Given the description of an element on the screen output the (x, y) to click on. 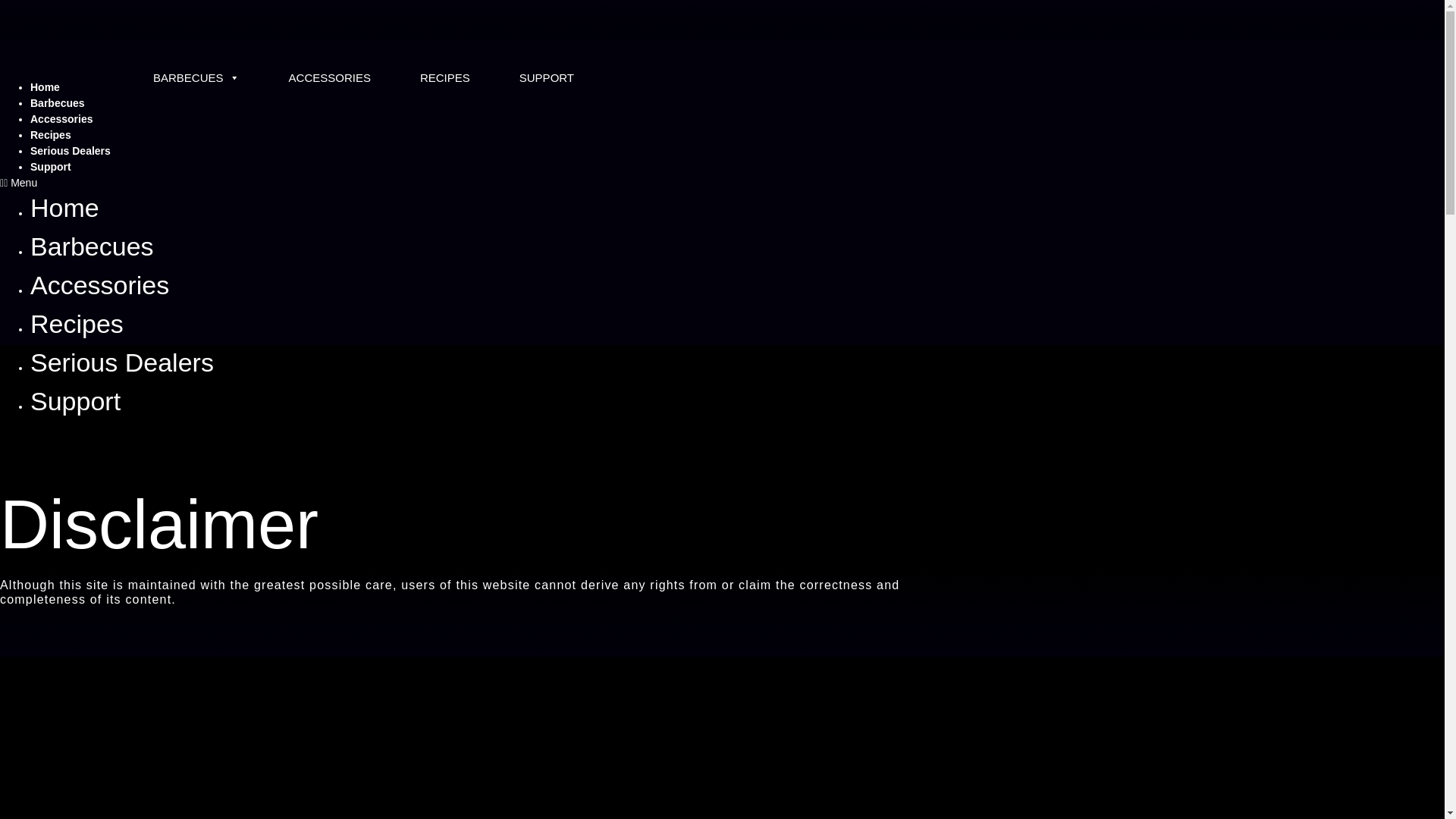
Serious Dealers (70, 151)
BARBECUES (196, 78)
ACCESSORIES (329, 78)
Barbecues (57, 102)
Recipes (76, 323)
RECIPES (444, 78)
Accessories (99, 284)
Support (75, 401)
SUPPORT (546, 78)
Serious Dealers (122, 362)
